Given the description of an element on the screen output the (x, y) to click on. 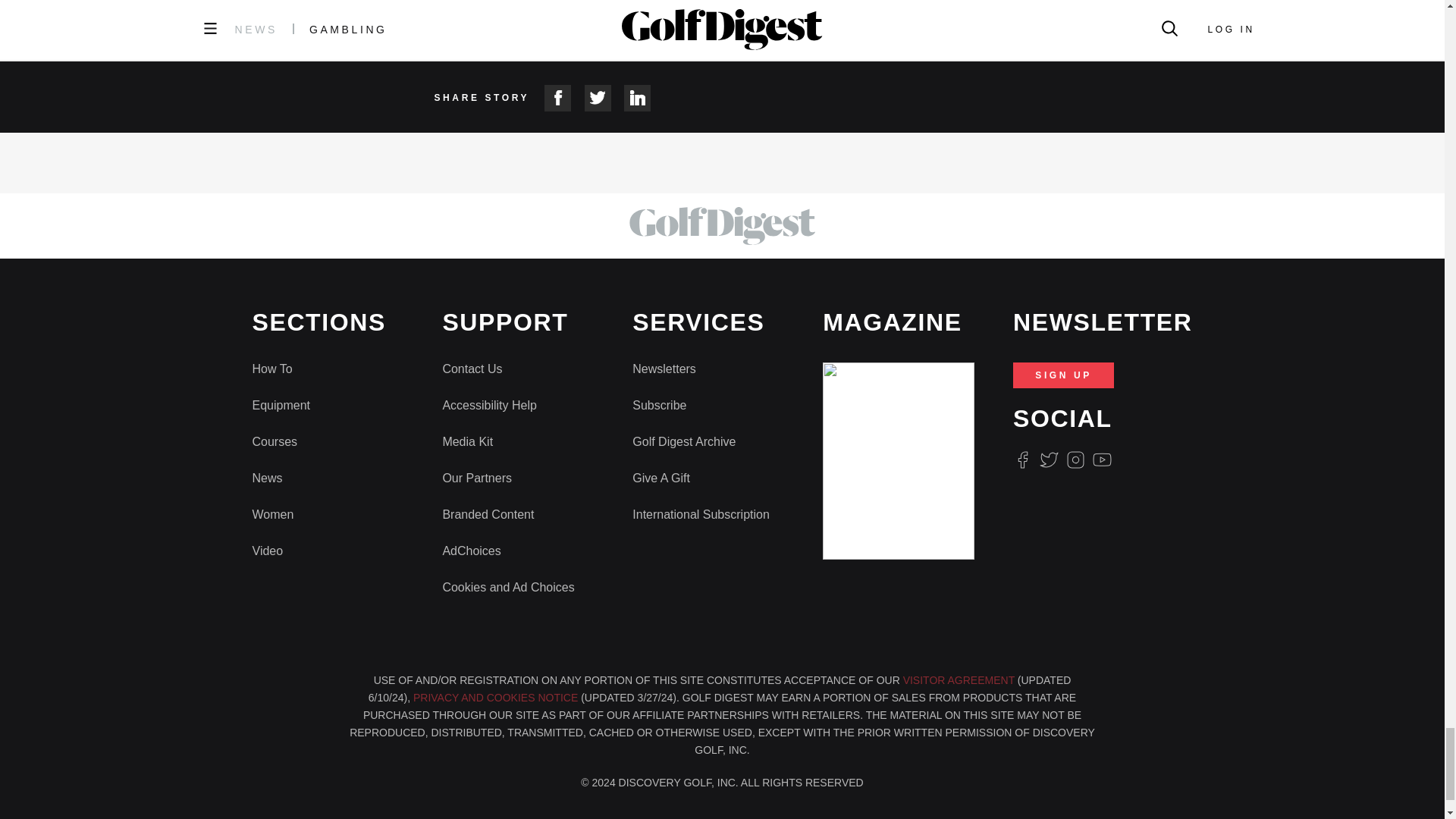
Facebook Logo (1022, 459)
Youtube Icon (1102, 459)
Twitter Logo (1048, 459)
Instagram Logo (1074, 459)
